Given the description of an element on the screen output the (x, y) to click on. 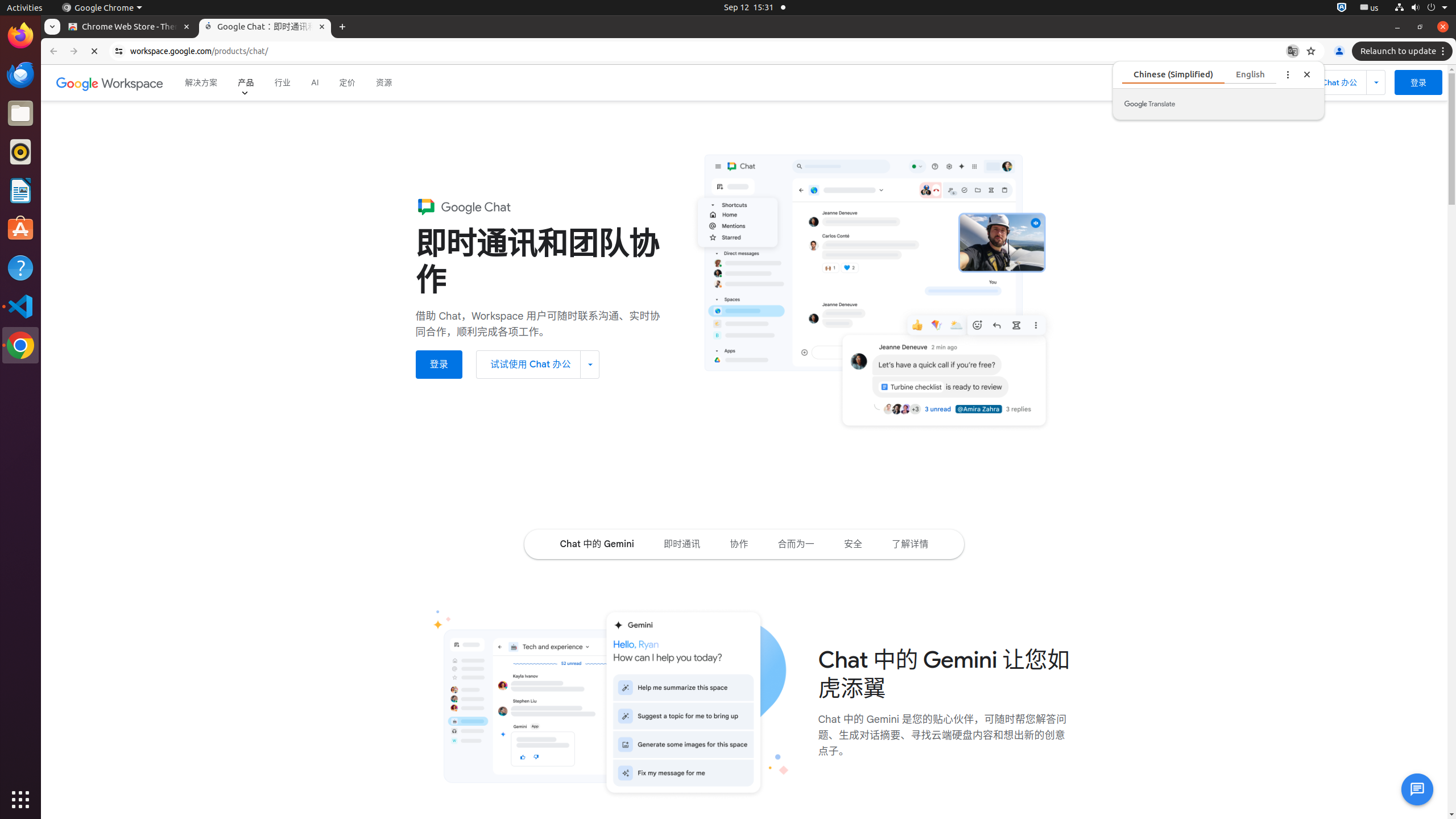
Files Element type: push-button (20, 113)
Google Chrome Element type: push-button (20, 344)
